Given the description of an element on the screen output the (x, y) to click on. 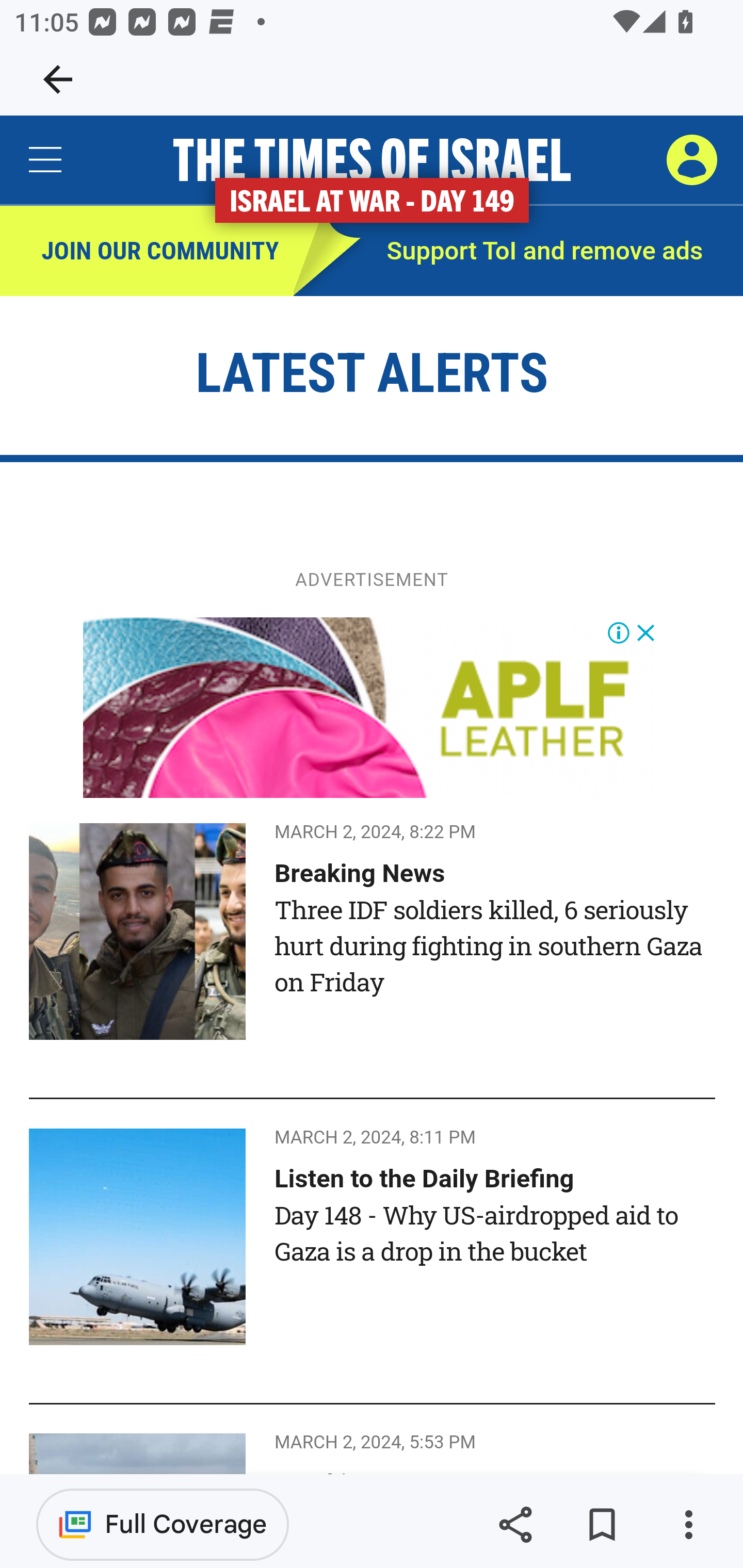
Navigate up (57, 79)
profile (691, 159)
The Times of Israel (371, 159)
JOIN OUR COMMUNITY (147, 251)
Breaking News (359, 873)
Listen to the Daily Briefing (424, 1177)
Share (514, 1524)
Save for later (601, 1524)
More options (688, 1524)
Full Coverage (162, 1524)
